Given the description of an element on the screen output the (x, y) to click on. 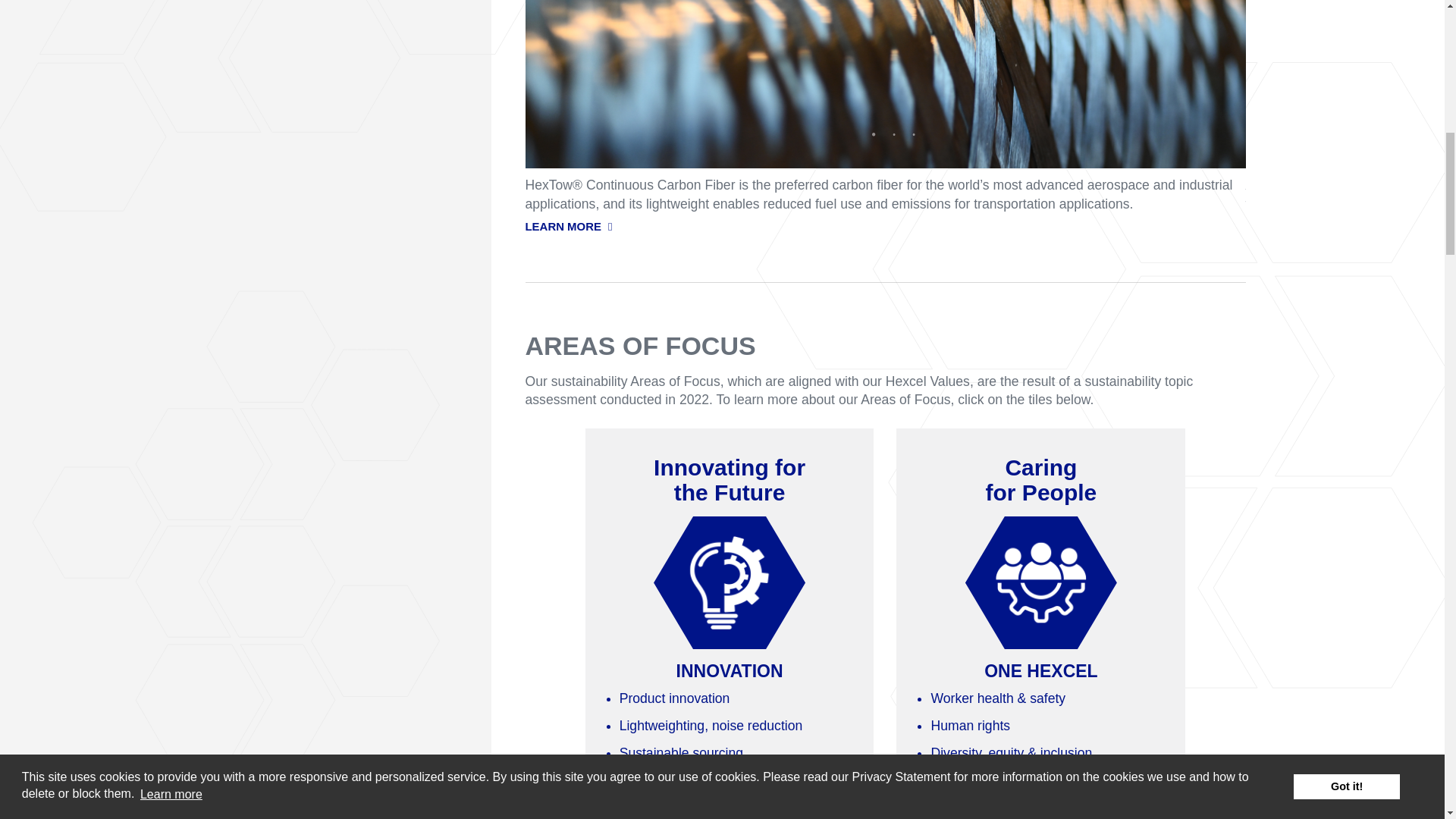
Go to slide 1 (877, 134)
LEARN MORE (884, 224)
INNOVATION (729, 582)
Go to slide 2 (896, 134)
Go to slide 3 (916, 134)
ONE HEXCEL (1040, 582)
